Given the description of an element on the screen output the (x, y) to click on. 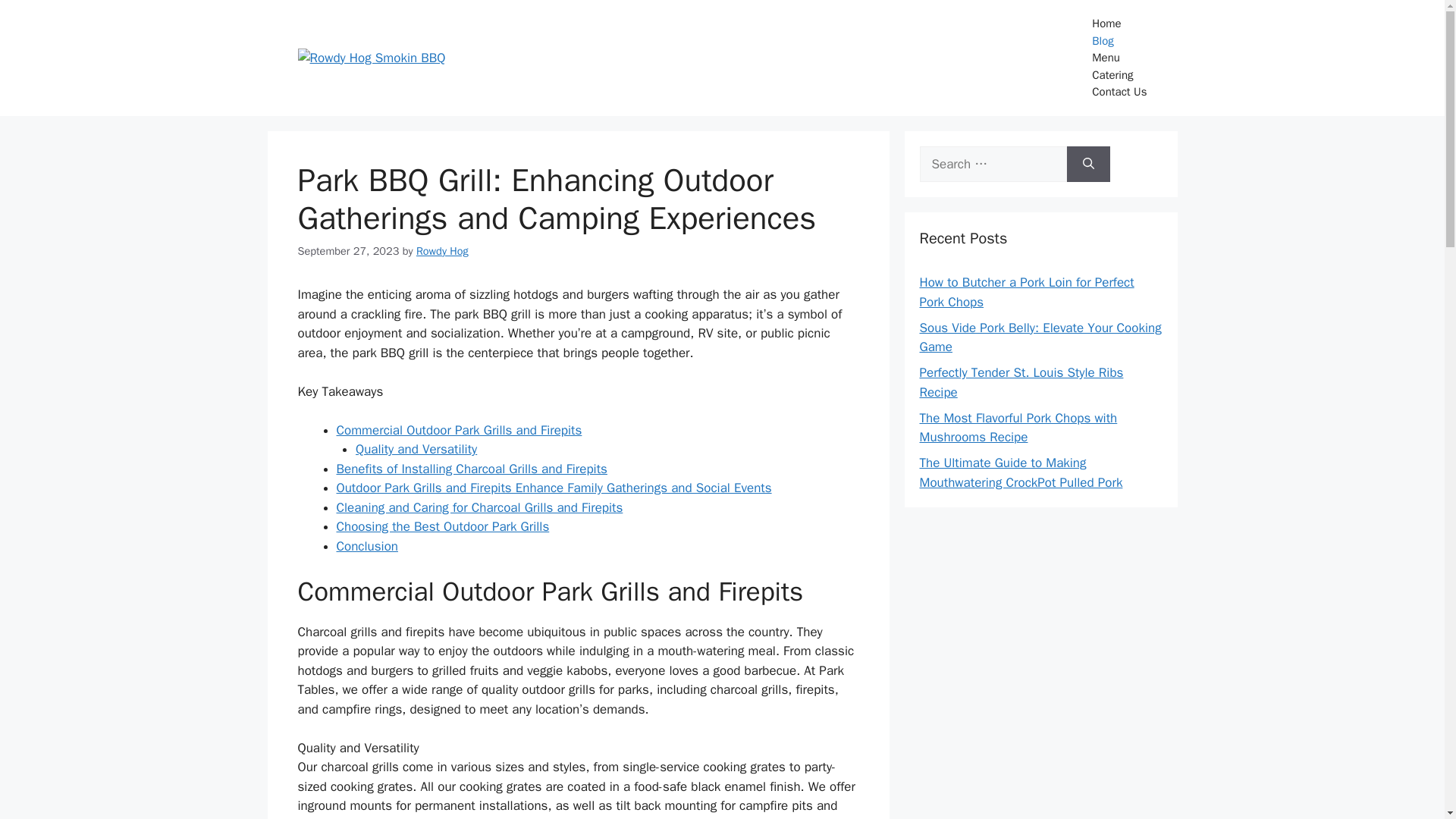
Cleaning and Caring for Charcoal Grills and Firepits (479, 507)
Menu (1119, 57)
Contact Us (1119, 91)
Quality and Versatility (416, 449)
Blog (1119, 40)
Benefits of Installing Charcoal Grills and Firepits (471, 468)
Rowdy Hog (442, 250)
The Most Flavorful Pork Chops with Mushrooms Recipe (1017, 427)
Conclusion (366, 546)
Catering (1119, 75)
Choosing the Best Outdoor Park Grills (443, 526)
Perfectly Tender St. Louis Style Ribs Recipe (1020, 382)
Search for: (991, 163)
Home (1119, 23)
View all posts by Rowdy Hog (442, 250)
